Given the description of an element on the screen output the (x, y) to click on. 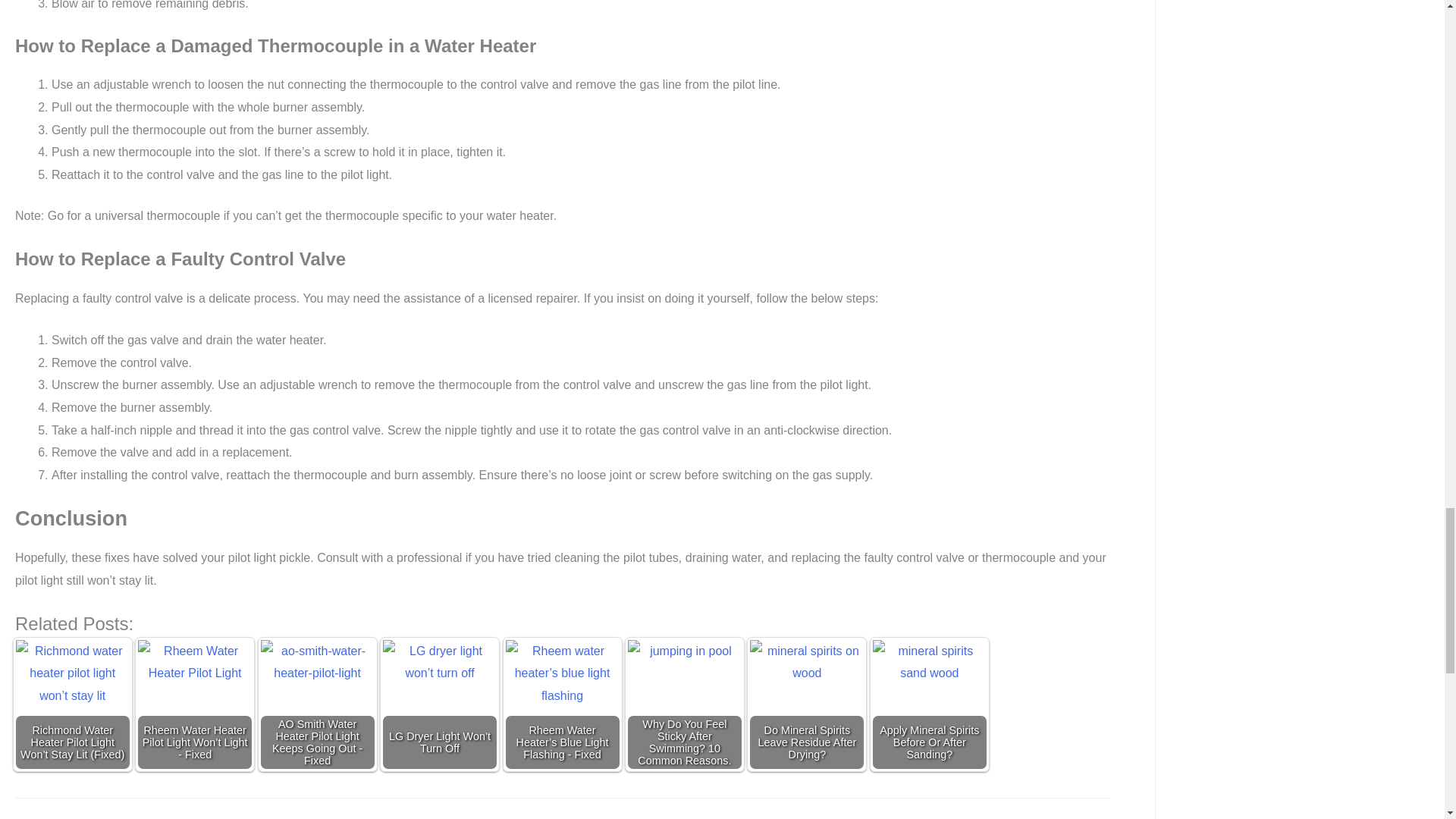
AO Smith Water Heater Pilot Light Keeps Going Out - Fixed (317, 696)
Do Mineral Spirits Leave Residue After Drying? (806, 696)
Why Do You Feel Sticky After Swimming? 10 Common Reasons. (684, 696)
Apply Mineral Spirits Before Or After Sanding? (929, 696)
